Given the description of an element on the screen output the (x, y) to click on. 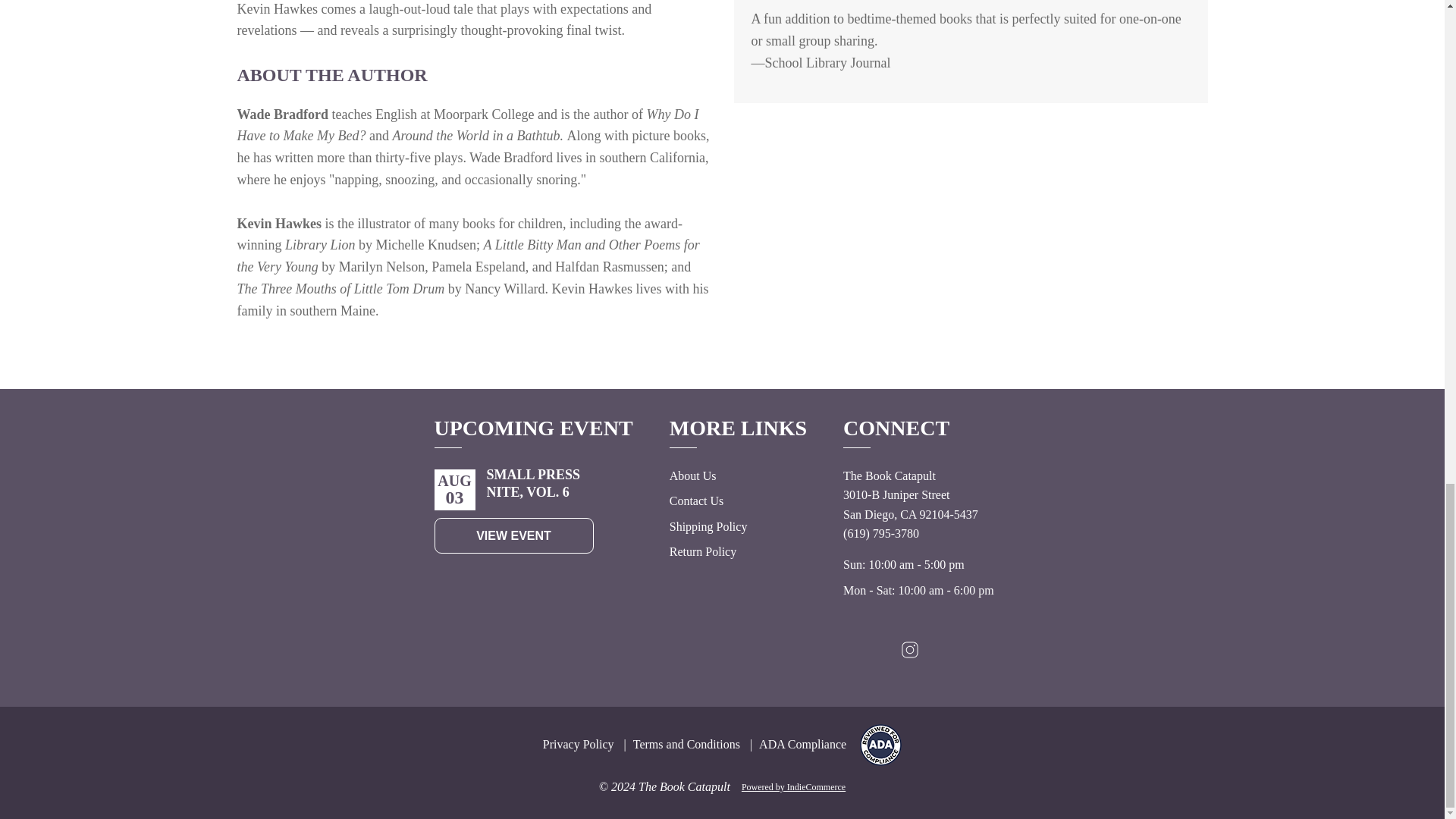
Connect with Instagram (909, 653)
Connect with Facebook (943, 653)
